Given the description of an element on the screen output the (x, y) to click on. 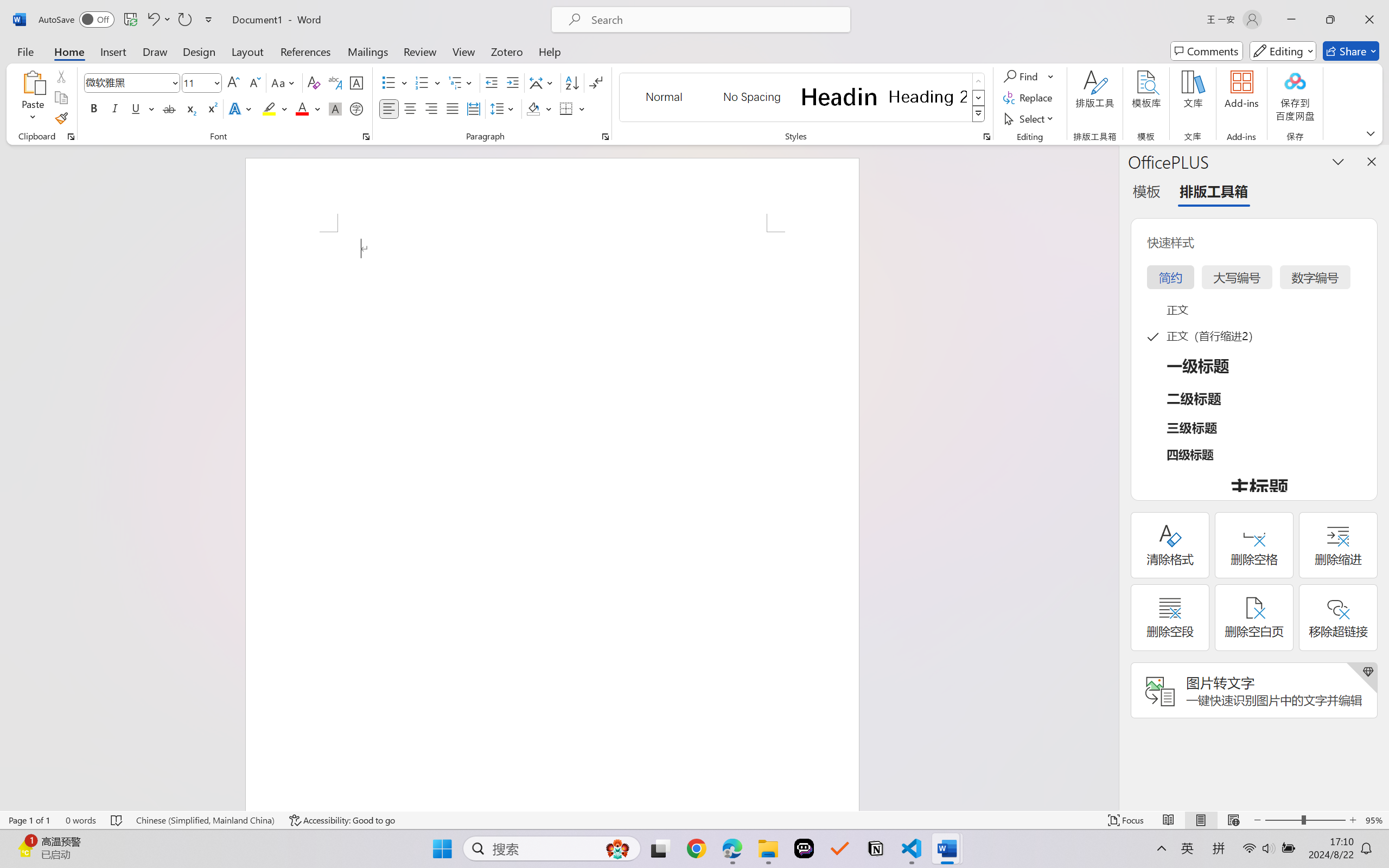
Class: MsoCommandBar (694, 819)
Repeat Style (184, 19)
Page 1 content (552, 521)
